Given the description of an element on the screen output the (x, y) to click on. 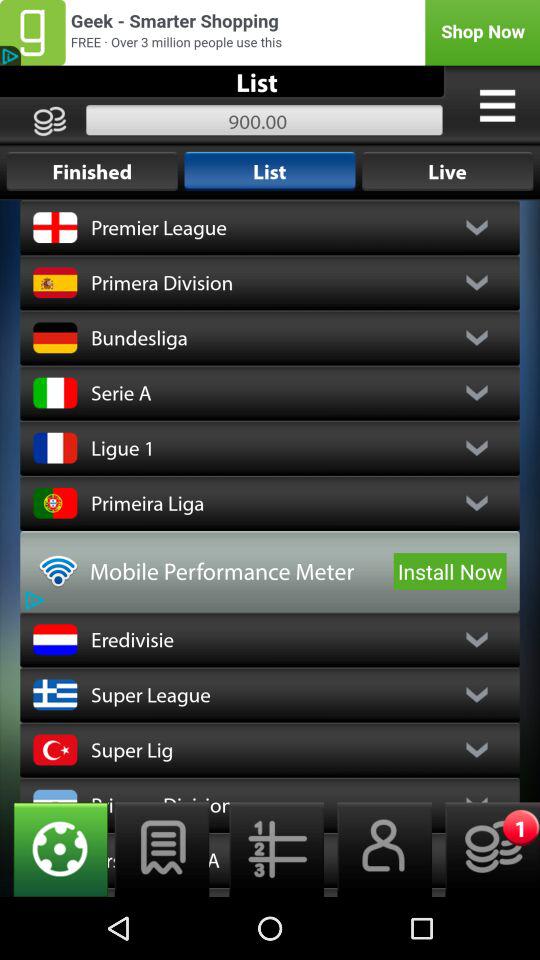
select the install now item (449, 571)
